Given the description of an element on the screen output the (x, y) to click on. 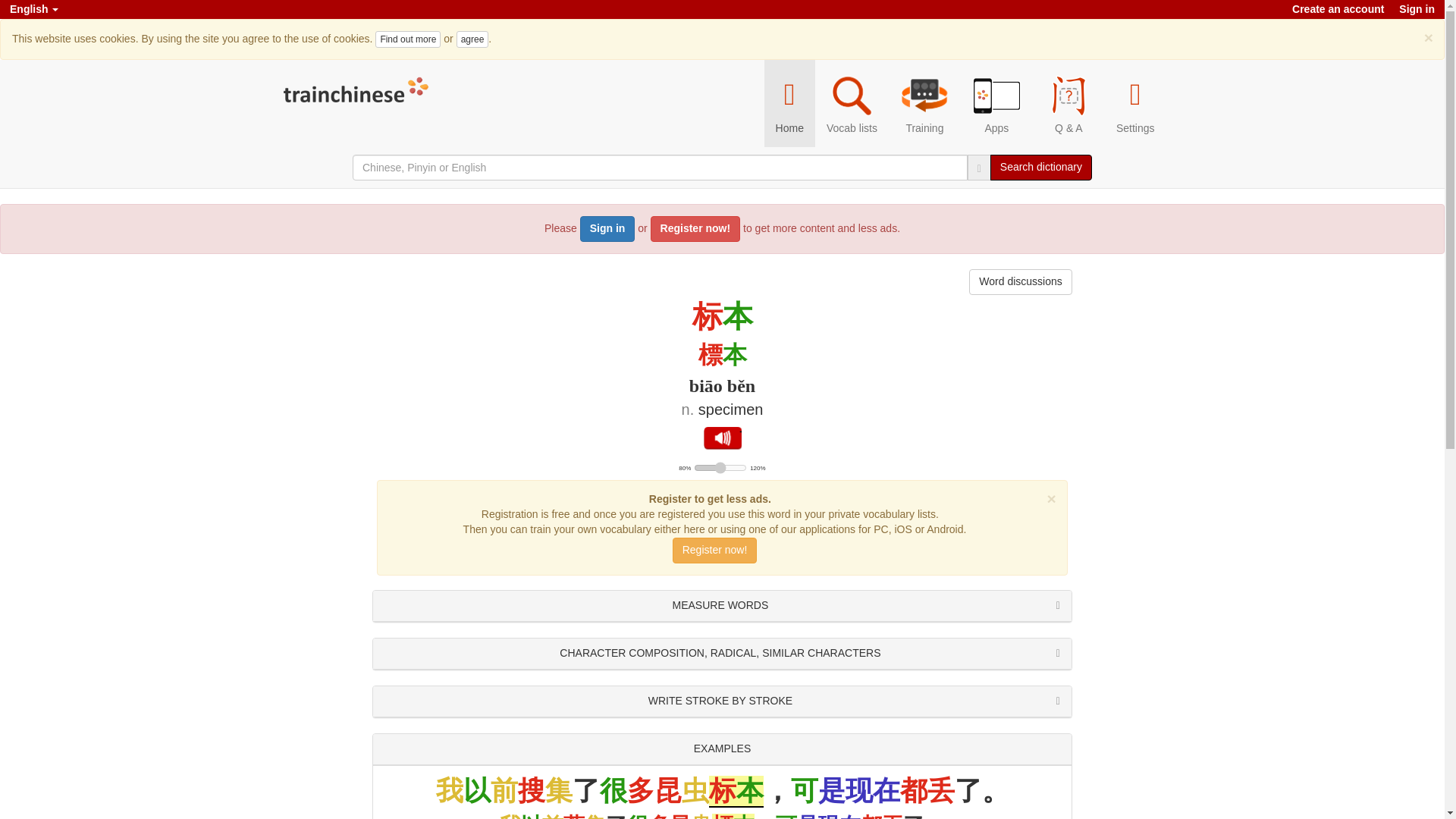
Create an account (1337, 9)
Search dictionary (1041, 167)
Register now! (714, 550)
Register now! (695, 228)
Sign in (1417, 9)
Word discussions (1020, 281)
Change audio speed (720, 467)
10 (720, 467)
agree (473, 39)
English (34, 9)
Sign in (606, 228)
Find out more (408, 39)
Sign in (1417, 9)
